Given the description of an element on the screen output the (x, y) to click on. 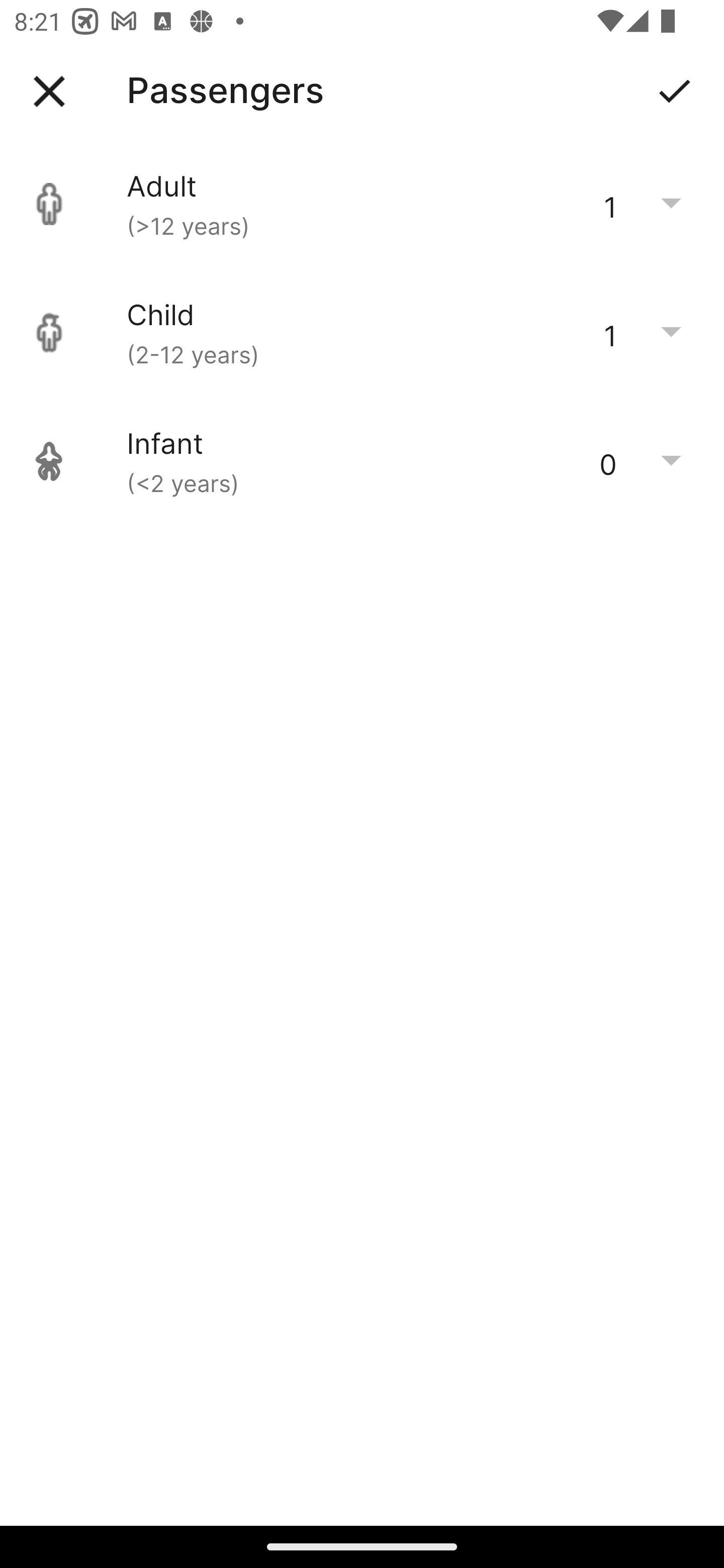
Adult (>12 years) 1 (362, 204)
Child (2-12 years) 1 (362, 332)
Infant (<2 years) 0 (362, 461)
